Given the description of an element on the screen output the (x, y) to click on. 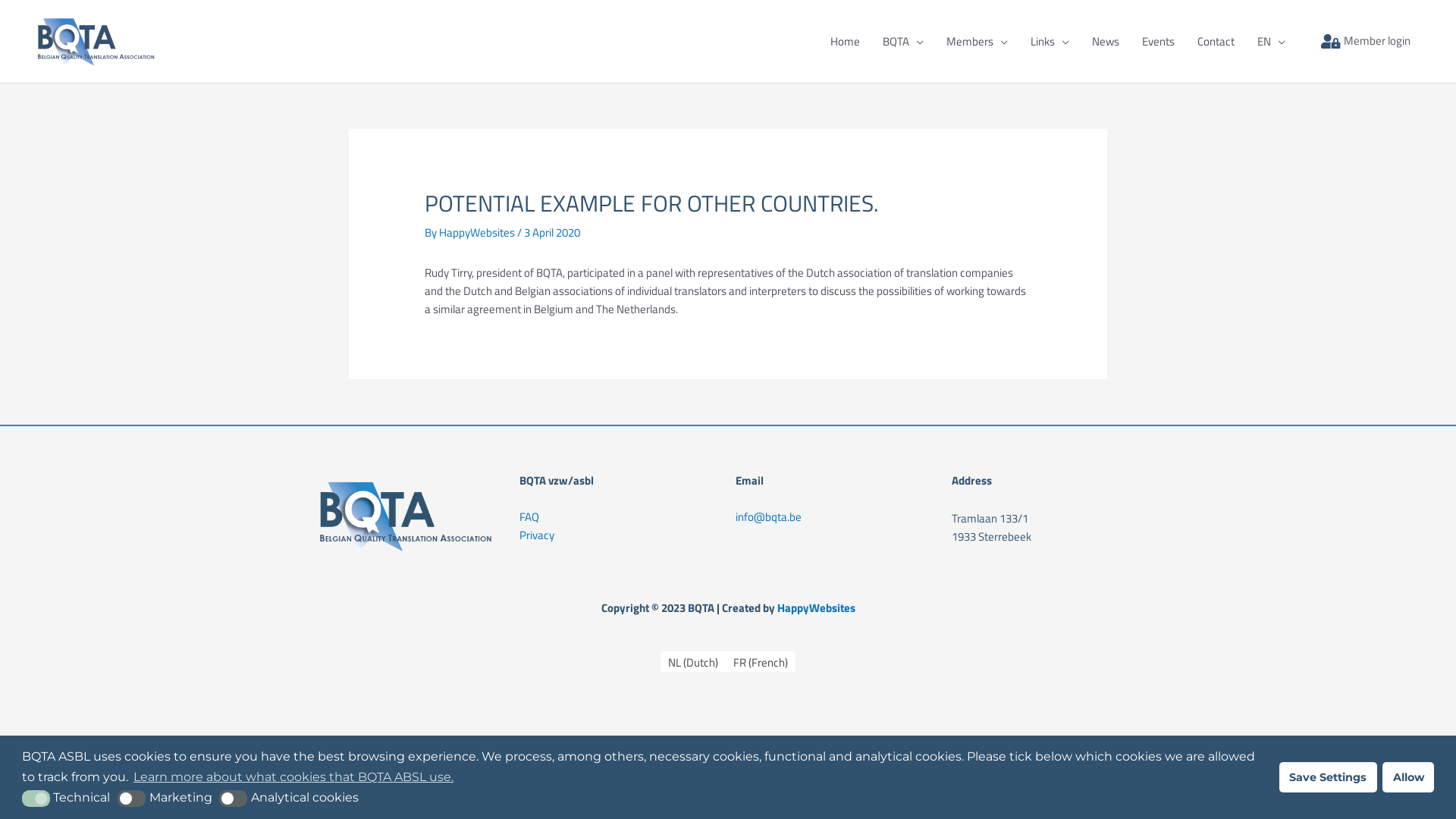
HappyWebsites Element type: text (478, 232)
EN Element type: text (1270, 41)
Events Element type: text (1157, 41)
News Element type: text (1104, 41)
Allow Element type: text (1408, 777)
Member login Element type: text (1365, 40)
Links Element type: text (1049, 41)
info@bqta.be Element type: text (768, 516)
FAQ Element type: text (529, 516)
FR (French) Element type: text (760, 661)
Home Element type: text (845, 41)
NL (Dutch) Element type: text (692, 661)
Members Element type: text (976, 41)
Learn more about what cookies that BQTA ABSL use. Element type: text (293, 776)
BQTA Element type: text (902, 41)
Privacy Element type: text (536, 534)
Contact Element type: text (1215, 41)
HappyWebsites Element type: text (815, 607)
Save Settings Element type: text (1328, 777)
